Given the description of an element on the screen output the (x, y) to click on. 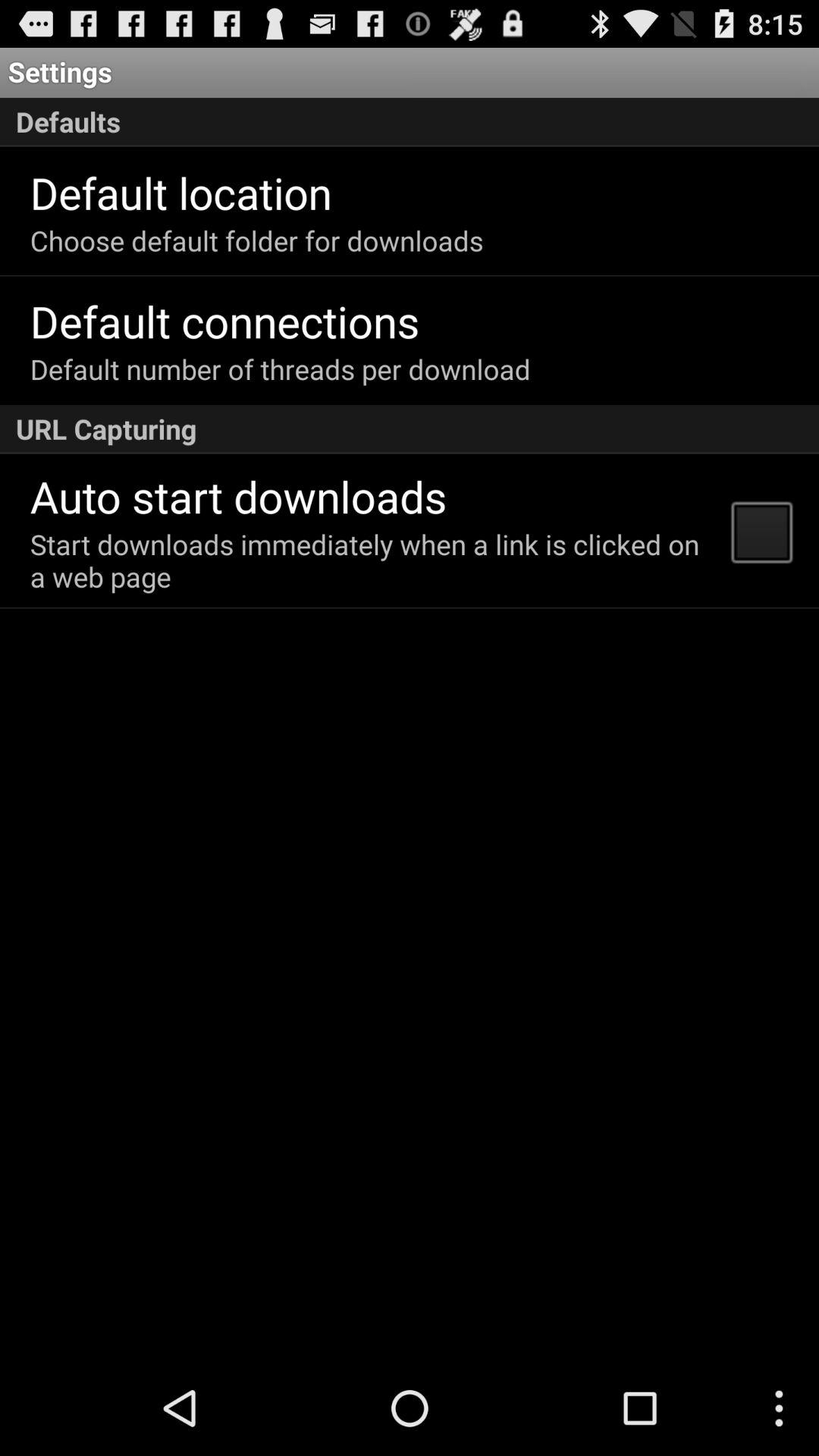
select the default connections icon (224, 320)
